Given the description of an element on the screen output the (x, y) to click on. 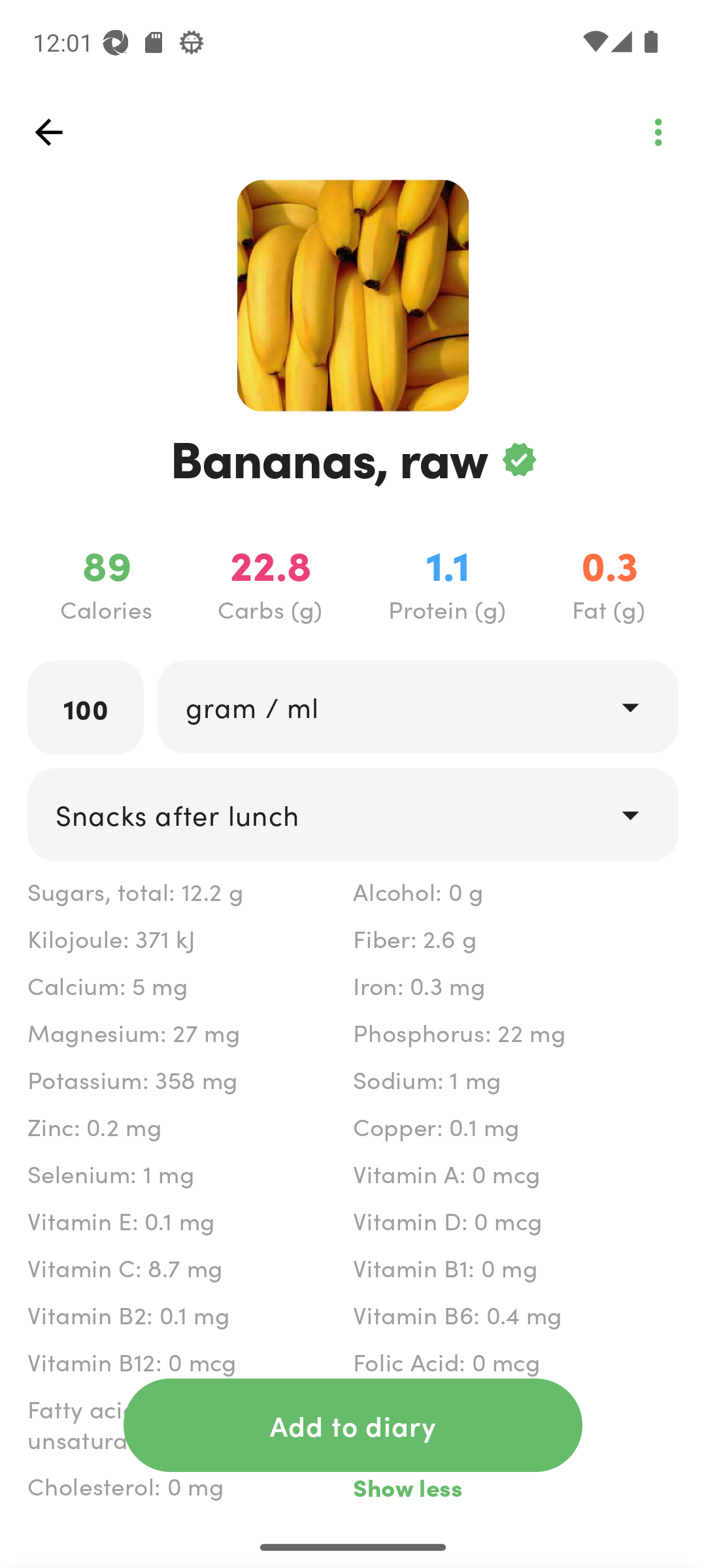
top_left_action (48, 132)
top_left_action (658, 132)
100 labeled_edit_text (85, 707)
drop_down gram / ml (417, 706)
drop_down Snacks after lunch (352, 814)
action_button Add to diary (352, 1425)
Show less (515, 1486)
